Given the description of an element on the screen output the (x, y) to click on. 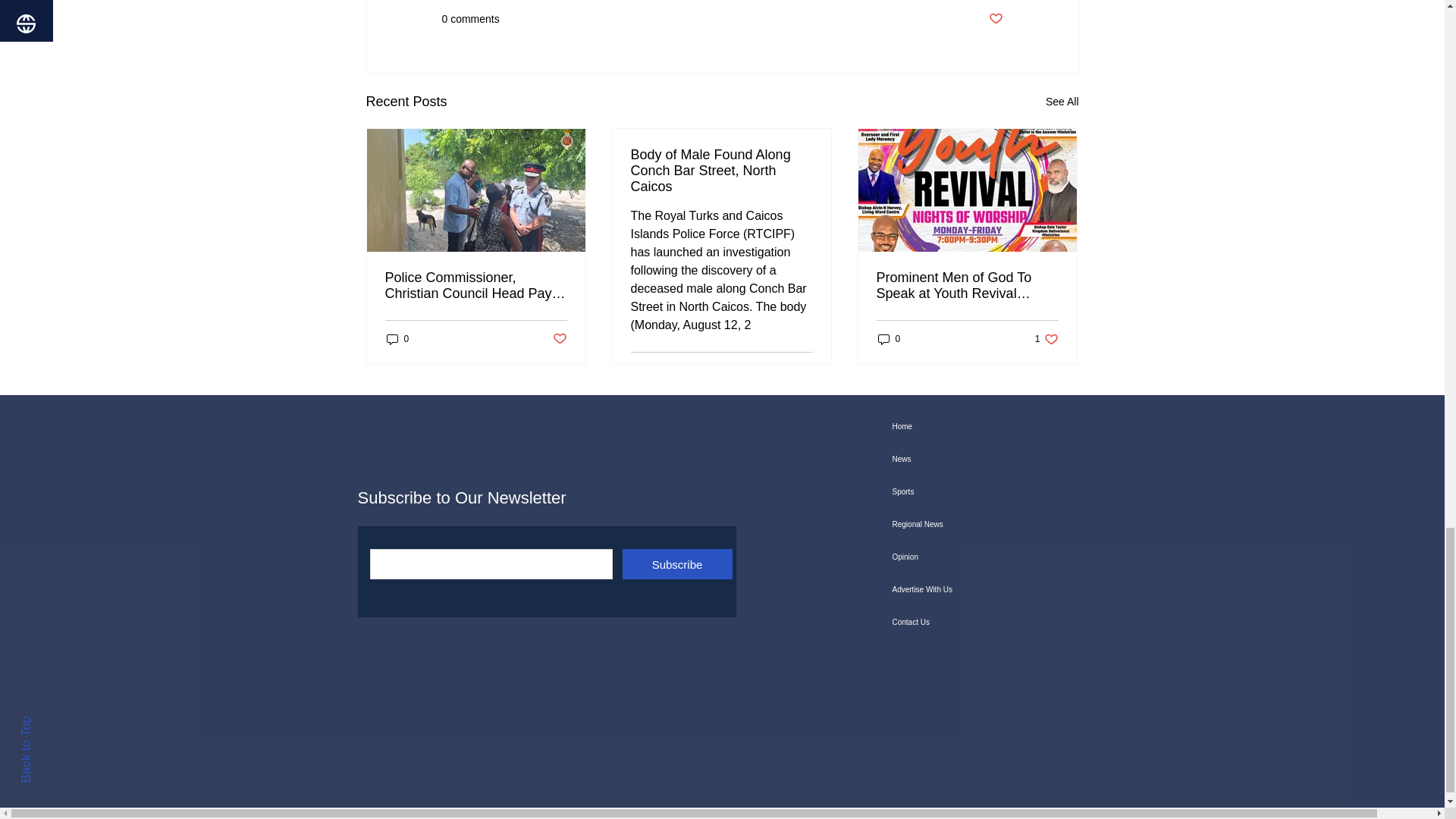
Body of Male Found Along Conch Bar Street, North Caicos (721, 170)
0 (397, 339)
See All (1061, 101)
Post not marked as liked (558, 339)
Post not marked as liked (995, 19)
Post not marked as liked (804, 371)
